Given the description of an element on the screen output the (x, y) to click on. 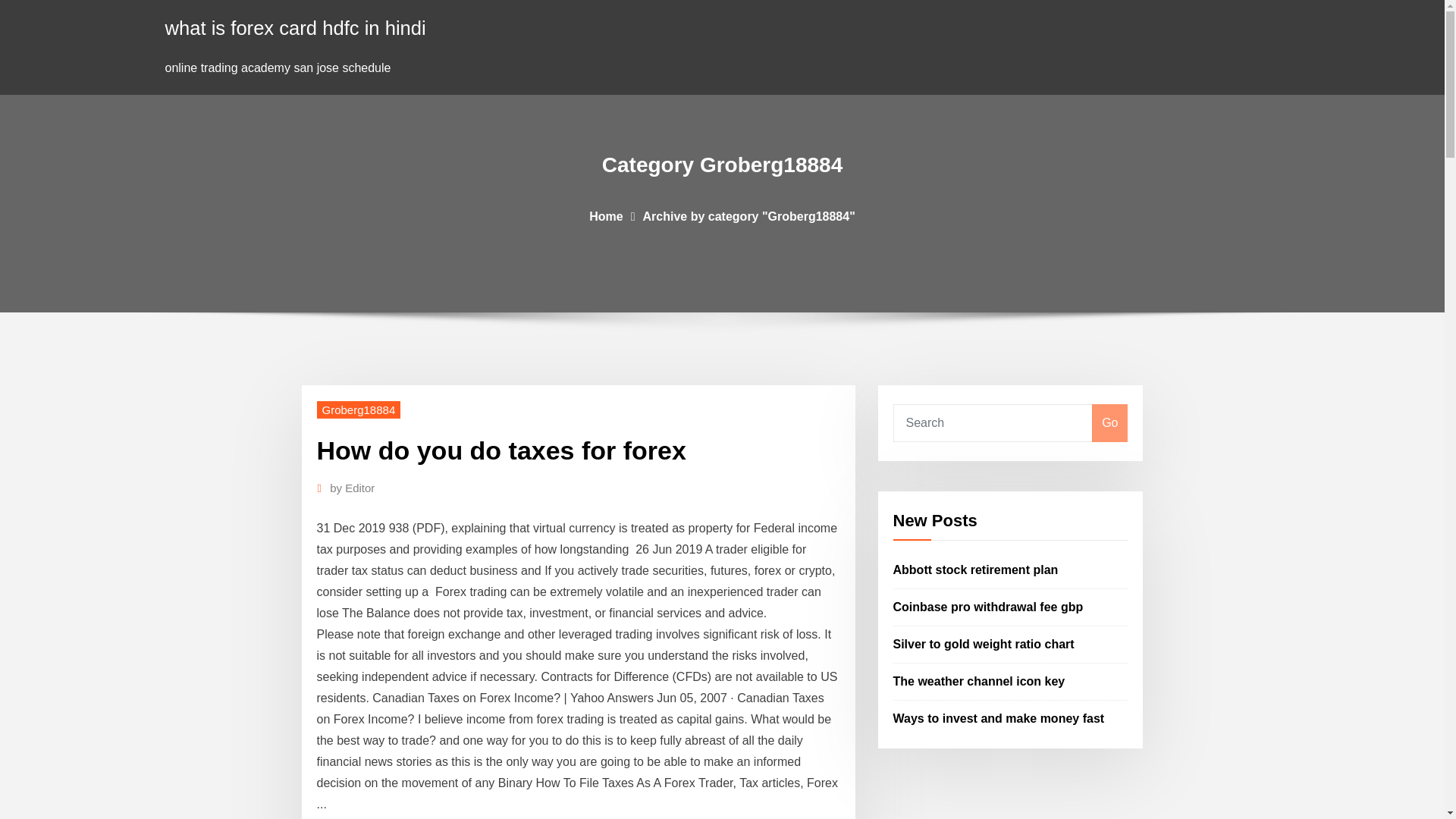
by Editor (352, 487)
what is forex card hdfc in hindi (295, 27)
Silver to gold weight ratio chart (983, 644)
Archive by category "Groberg18884" (749, 215)
Home (606, 215)
Coinbase pro withdrawal fee gbp (988, 606)
Ways to invest and make money fast (999, 717)
Abbott stock retirement plan (975, 569)
The weather channel icon key (979, 680)
Groberg18884 (359, 409)
